Given the description of an element on the screen output the (x, y) to click on. 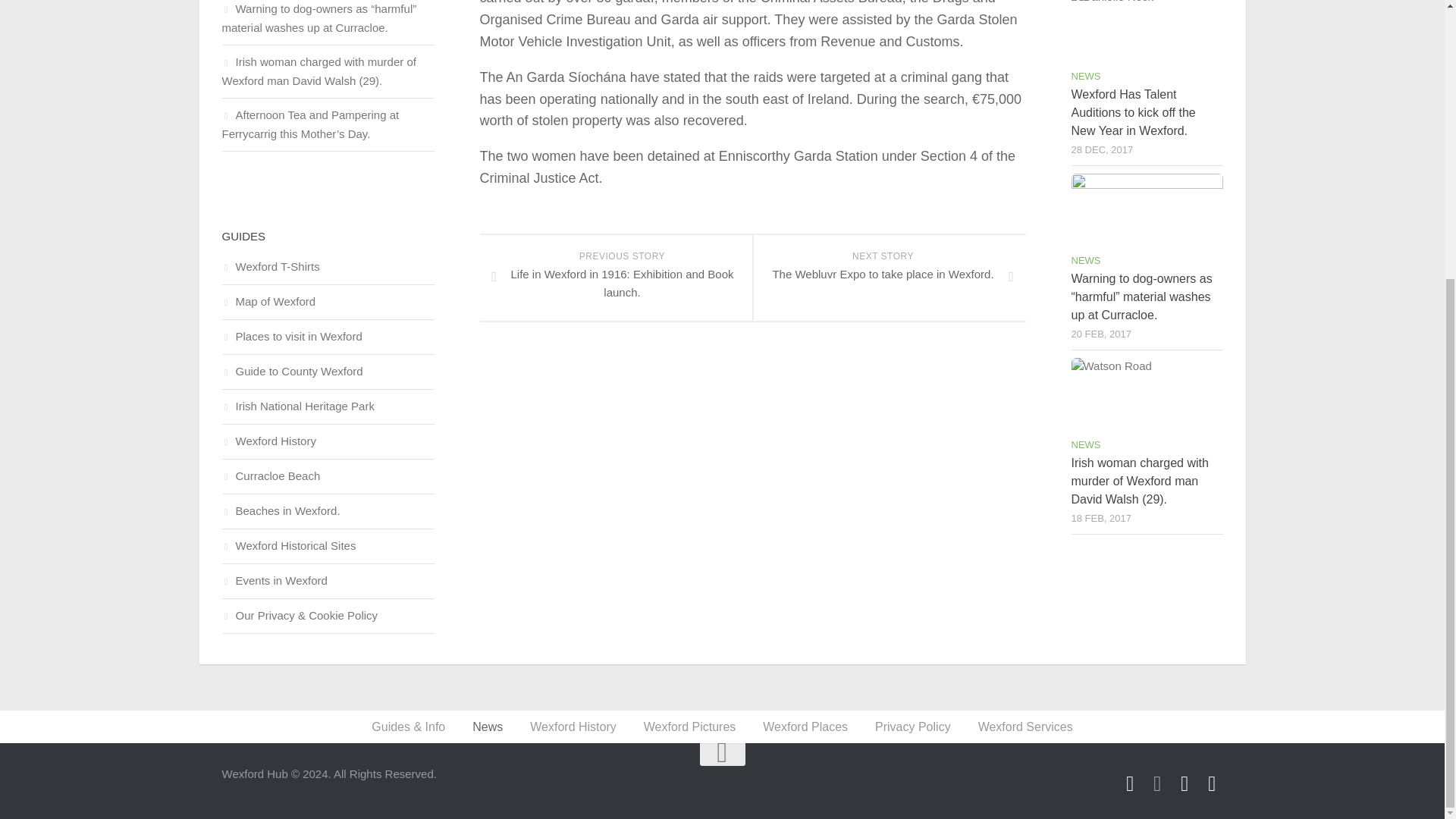
Wexford History (327, 442)
LinkedIn (1184, 783)
Events in Wexford (327, 581)
Facebook (1129, 783)
Irish National Heritage Park (327, 407)
Guide to County Wexford (327, 371)
Curracloe Beach (888, 278)
NEWS (327, 476)
Wexford T-Shirts (1085, 75)
Beaches in Wexford. (327, 267)
